Given the description of an element on the screen output the (x, y) to click on. 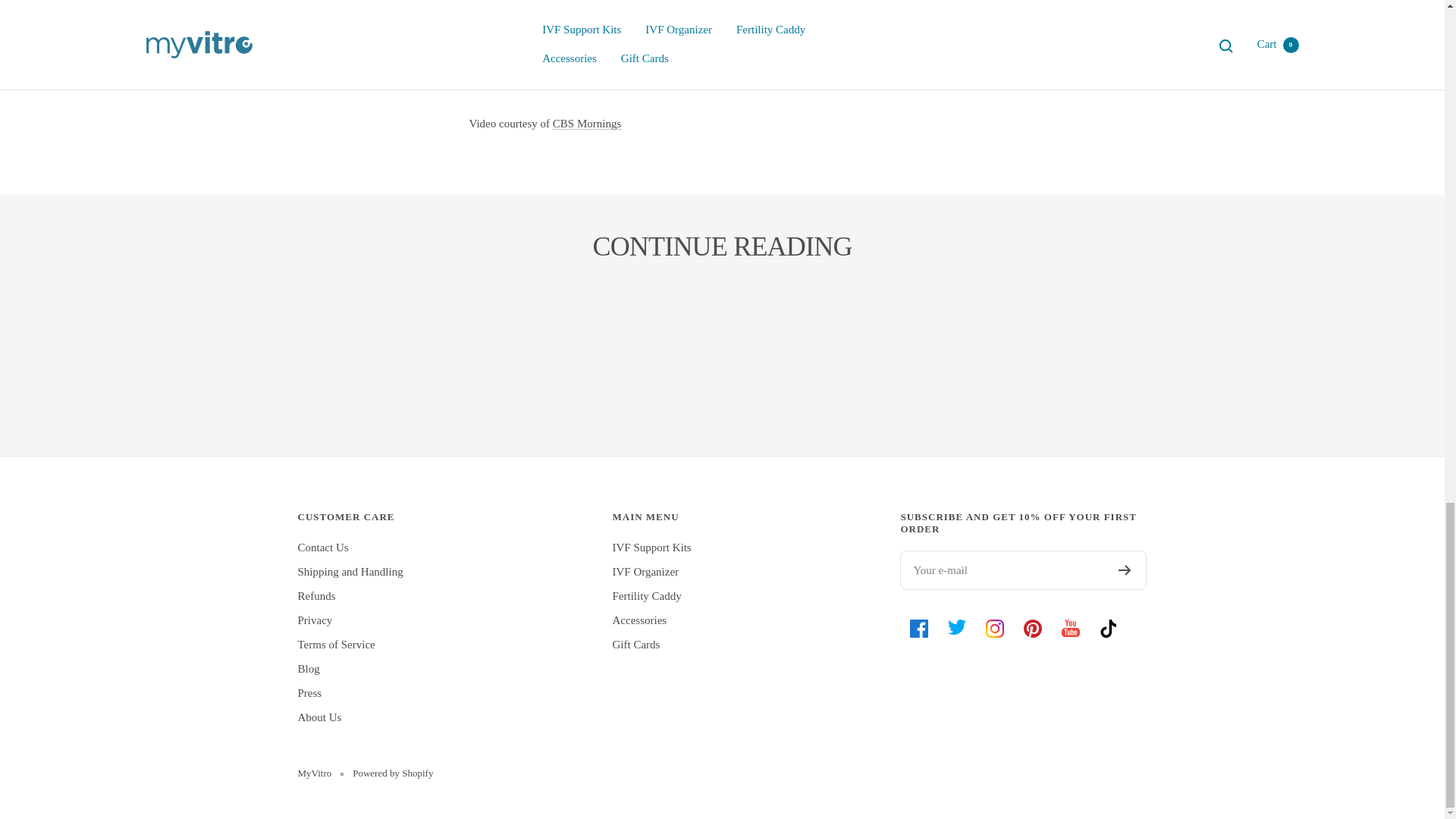
Register (1124, 570)
CBS Mornings Facing Fertility the reality of IVF (587, 123)
CBS Mornings (587, 123)
